Given the description of an element on the screen output the (x, y) to click on. 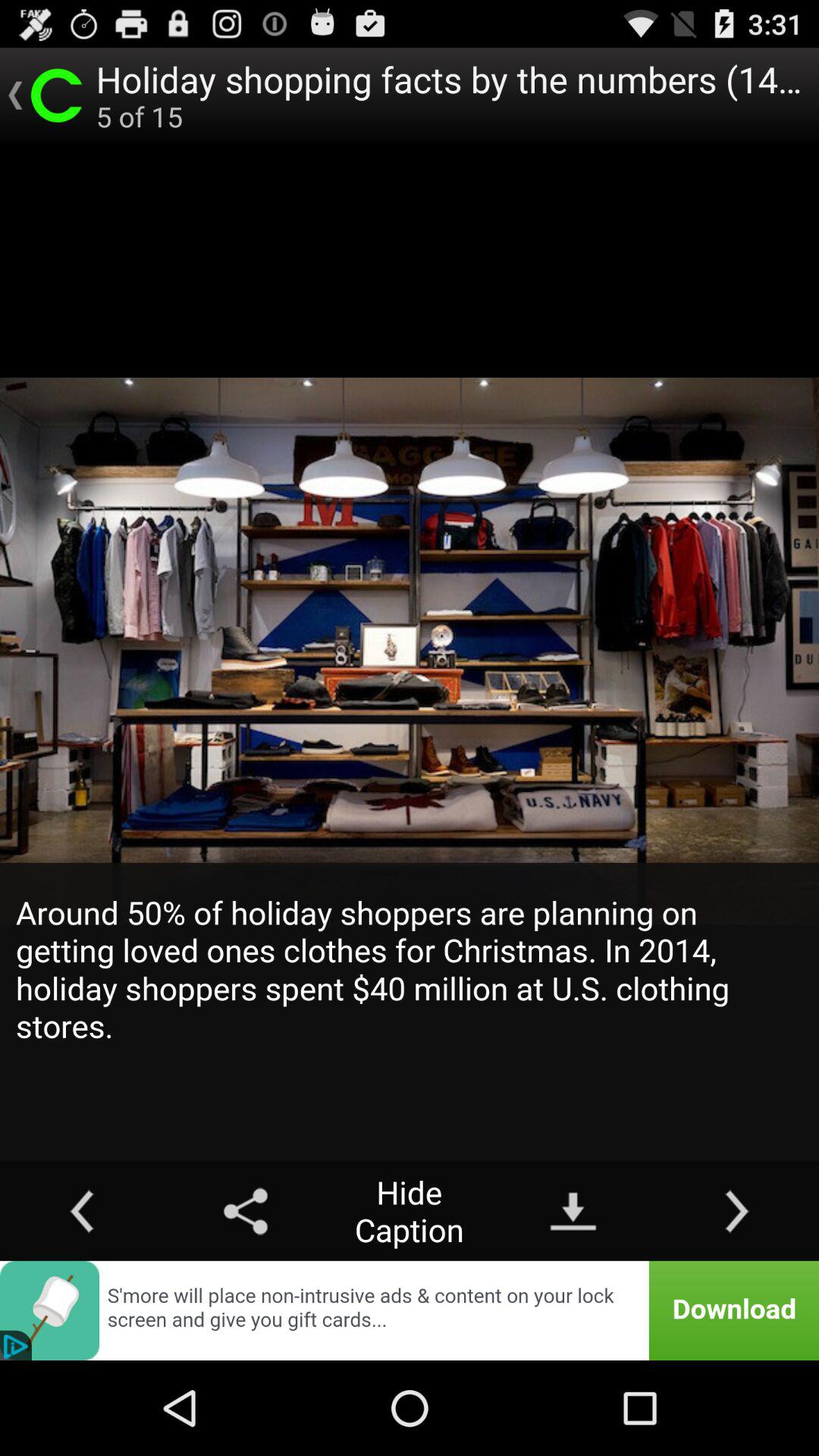
press the item to the left of the hide caption item (245, 1210)
